Given the description of an element on the screen output the (x, y) to click on. 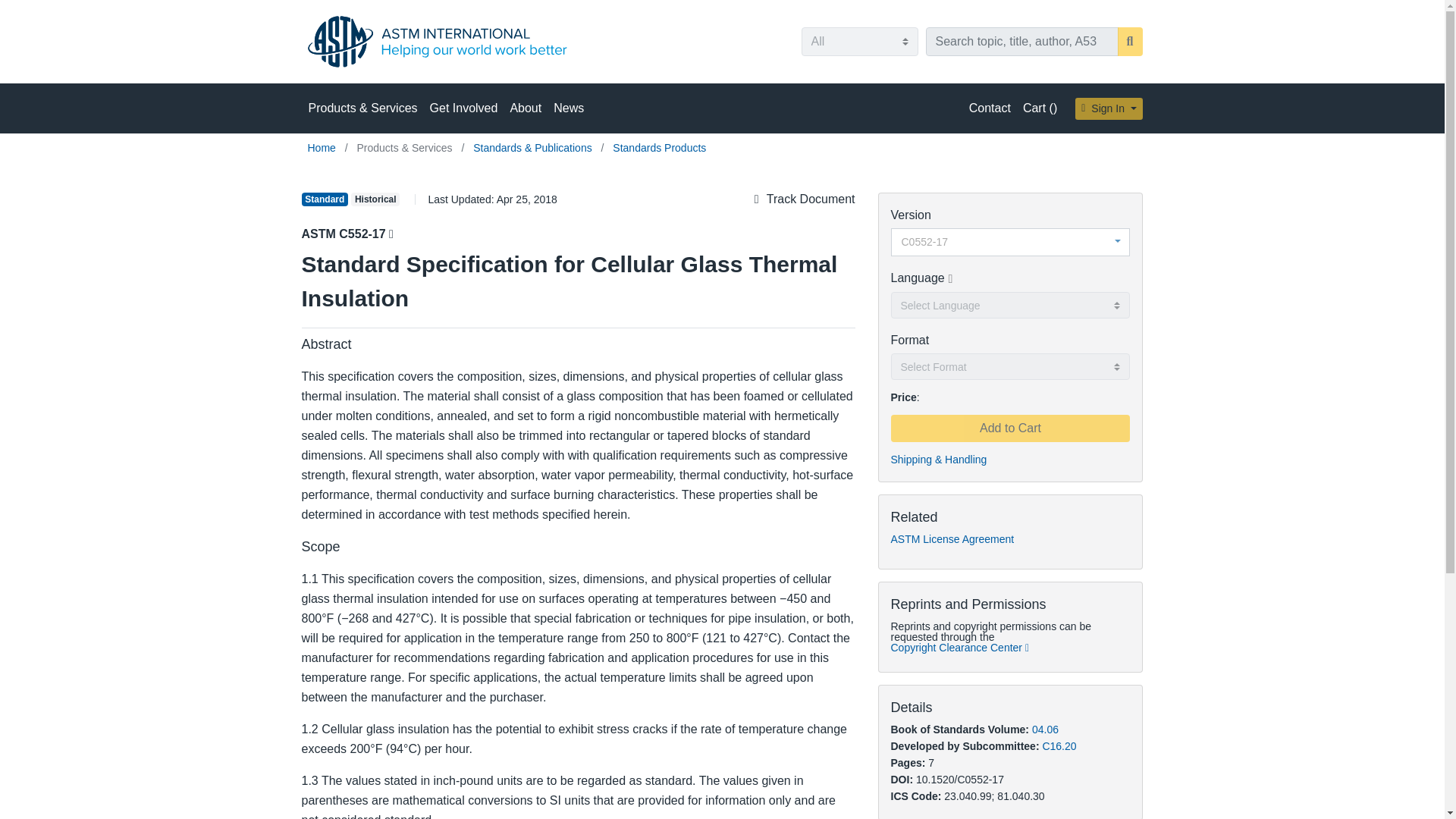
All (858, 41)
Add to Cart (1009, 428)
Go to Home Page (323, 147)
